Given the description of an element on the screen output the (x, y) to click on. 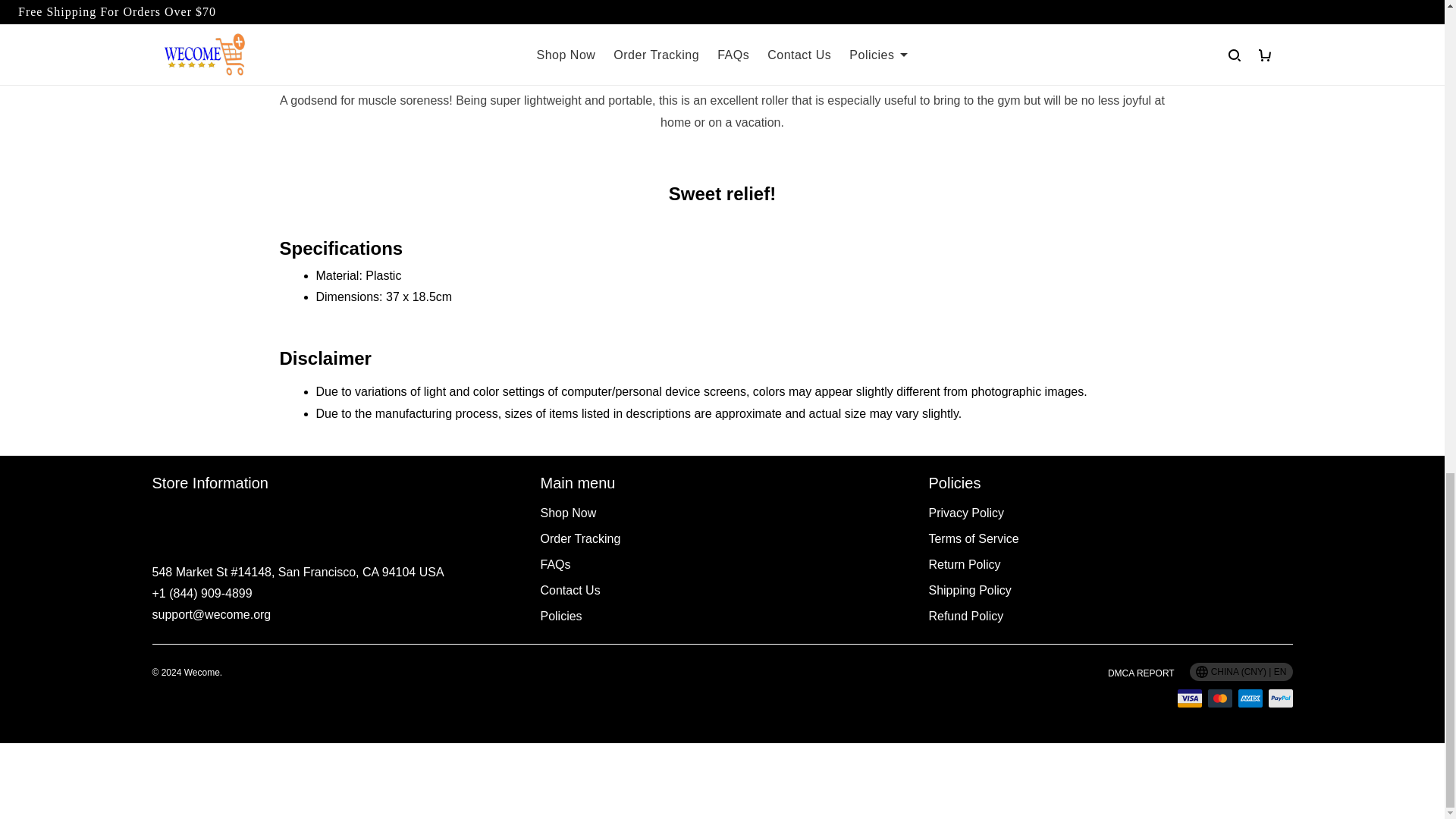
Terms of Service (972, 538)
FAQs (555, 563)
Contact Us (569, 590)
Order Tracking (580, 538)
Policies (560, 615)
Return Policy (964, 563)
Privacy Policy (966, 512)
Shop Now (567, 512)
